Given the description of an element on the screen output the (x, y) to click on. 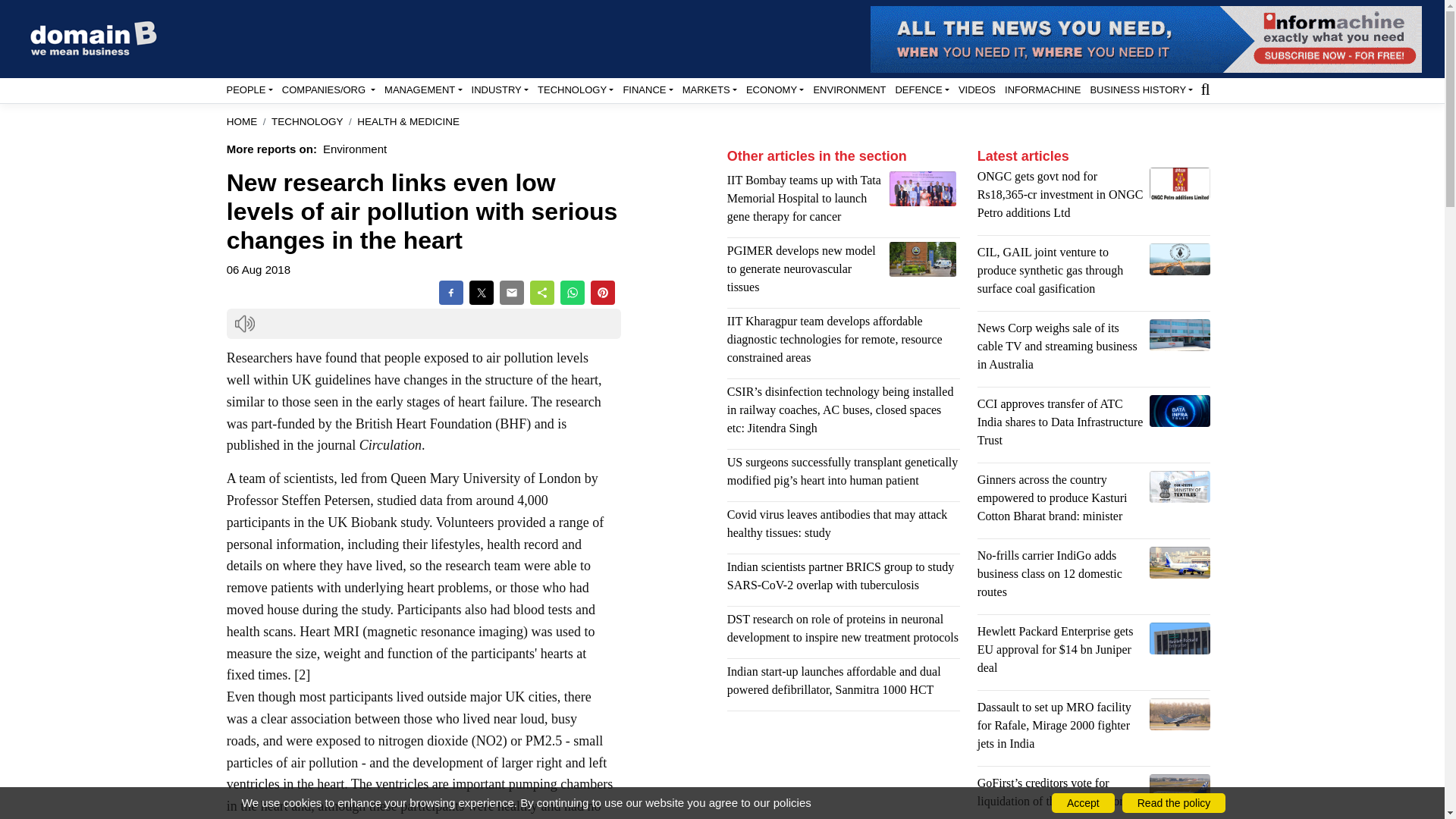
Advertisement (843, 770)
PEOPLE (248, 89)
PGIMER develops new model to generate neurovascular tissues (922, 258)
Click here to listen (244, 323)
